Given the description of an element on the screen output the (x, y) to click on. 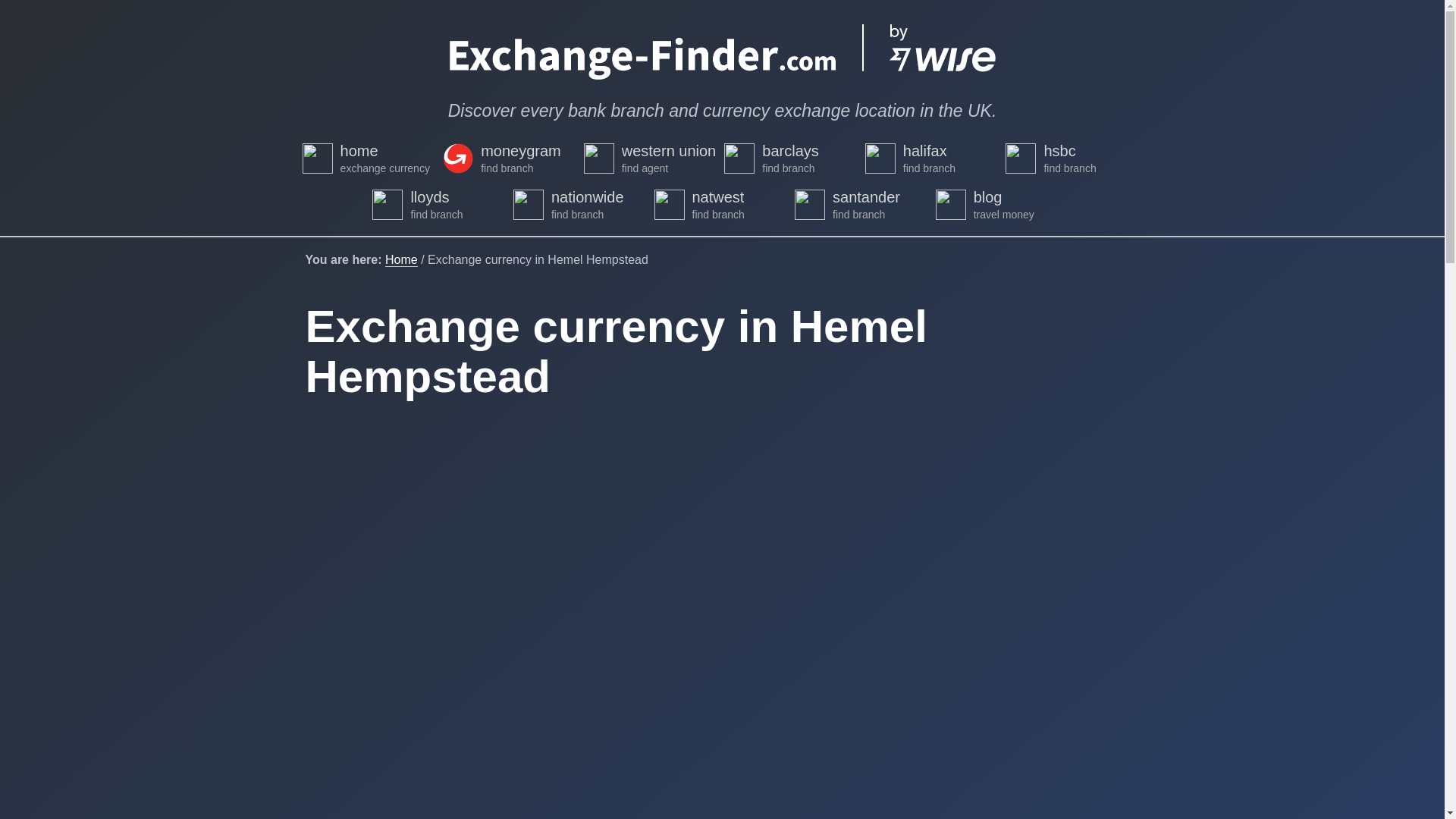
Home (401, 259)
